Given the description of an element on the screen output the (x, y) to click on. 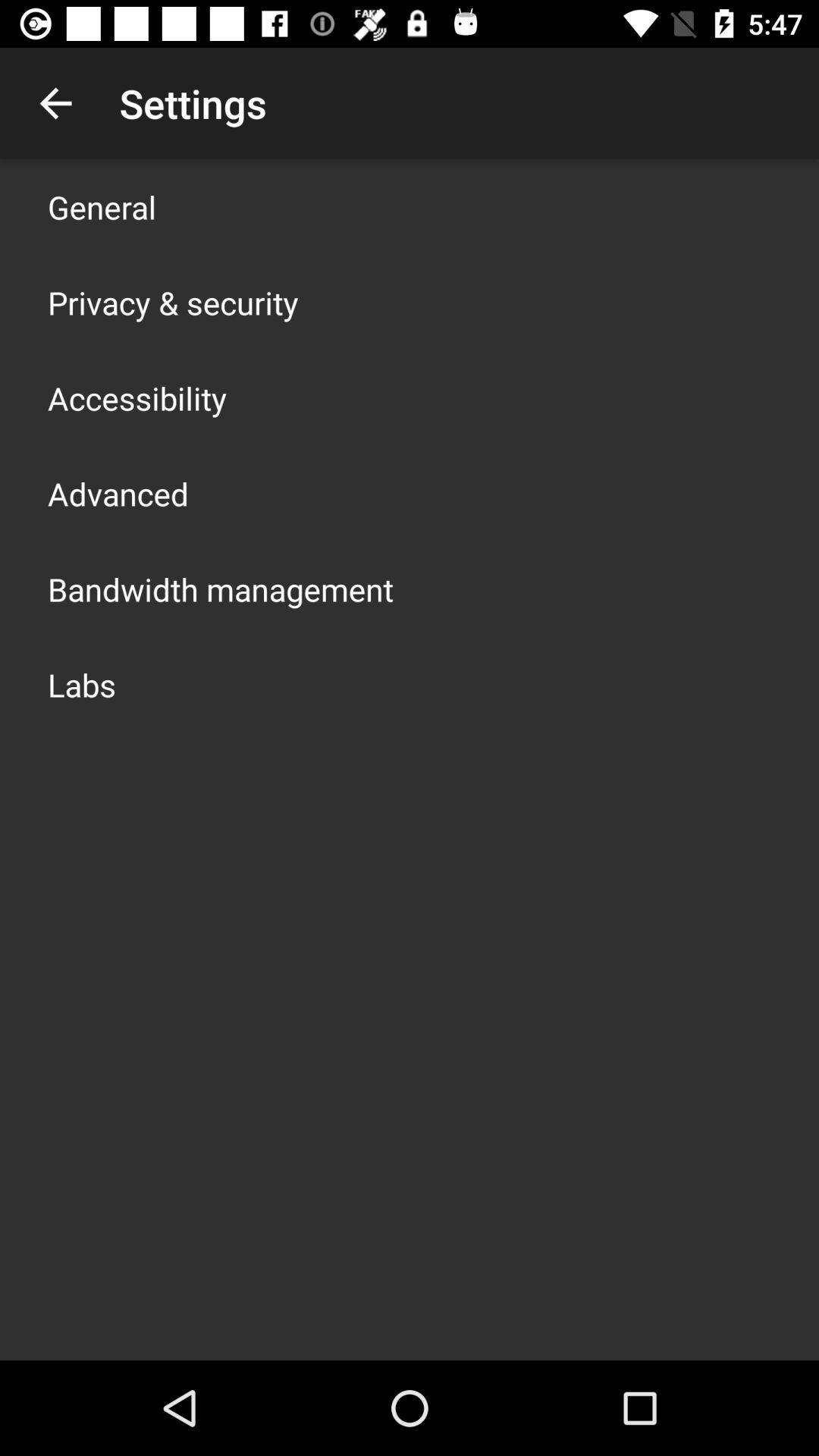
press icon above labs icon (220, 588)
